Given the description of an element on the screen output the (x, y) to click on. 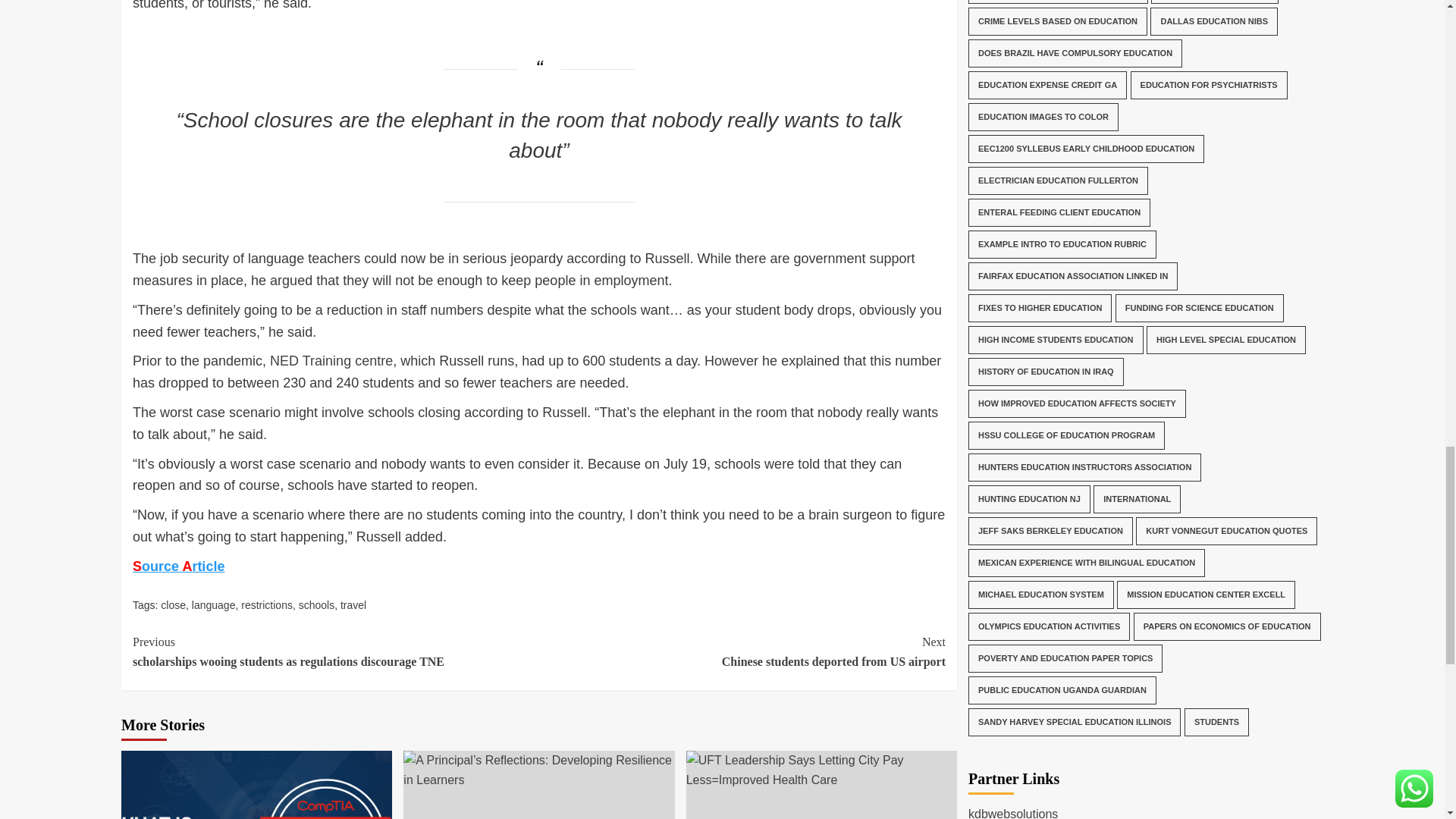
schools (316, 604)
restrictions (266, 604)
Seedbacklink (741, 651)
language (986, 636)
travel (213, 604)
NED Training centre (353, 604)
Source Article (331, 360)
close (178, 566)
